Given the description of an element on the screen output the (x, y) to click on. 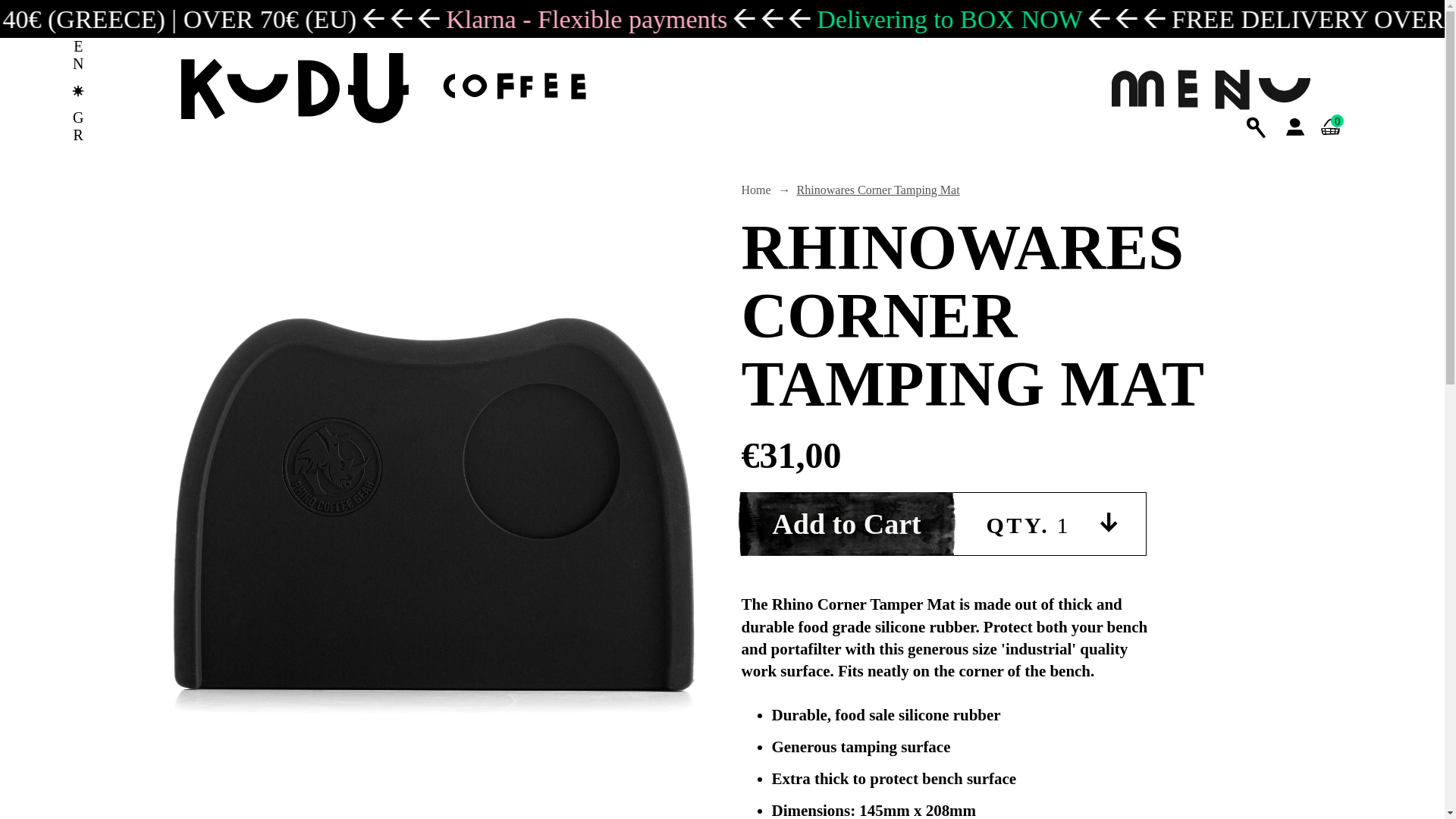
Rhinowares Corner Tamping Mat (877, 189)
Home (756, 189)
Add to Cart (846, 524)
Home (756, 189)
0 (1329, 144)
